Given the description of an element on the screen output the (x, y) to click on. 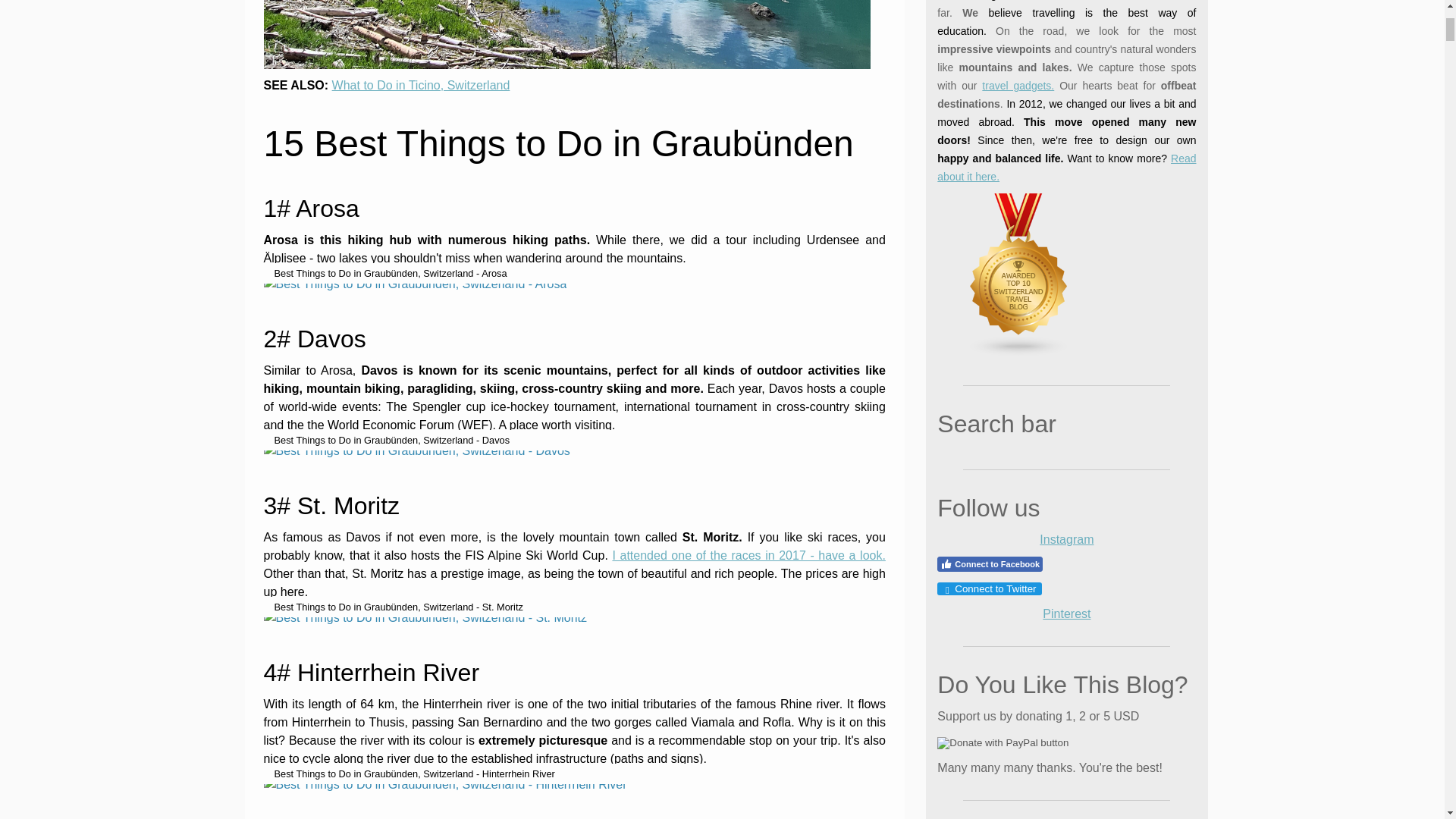
PayPal - The safer, easier way to pay online! (1002, 743)
Switzerland Travel Blogs (1018, 352)
Travel resources (1017, 85)
About us (1066, 167)
What to Do in Ticino, Switzerland - Insider Tips (421, 84)
A Day at the Ski World Cup in St. Moritz, Switzerland (748, 554)
